Given the description of an element on the screen output the (x, y) to click on. 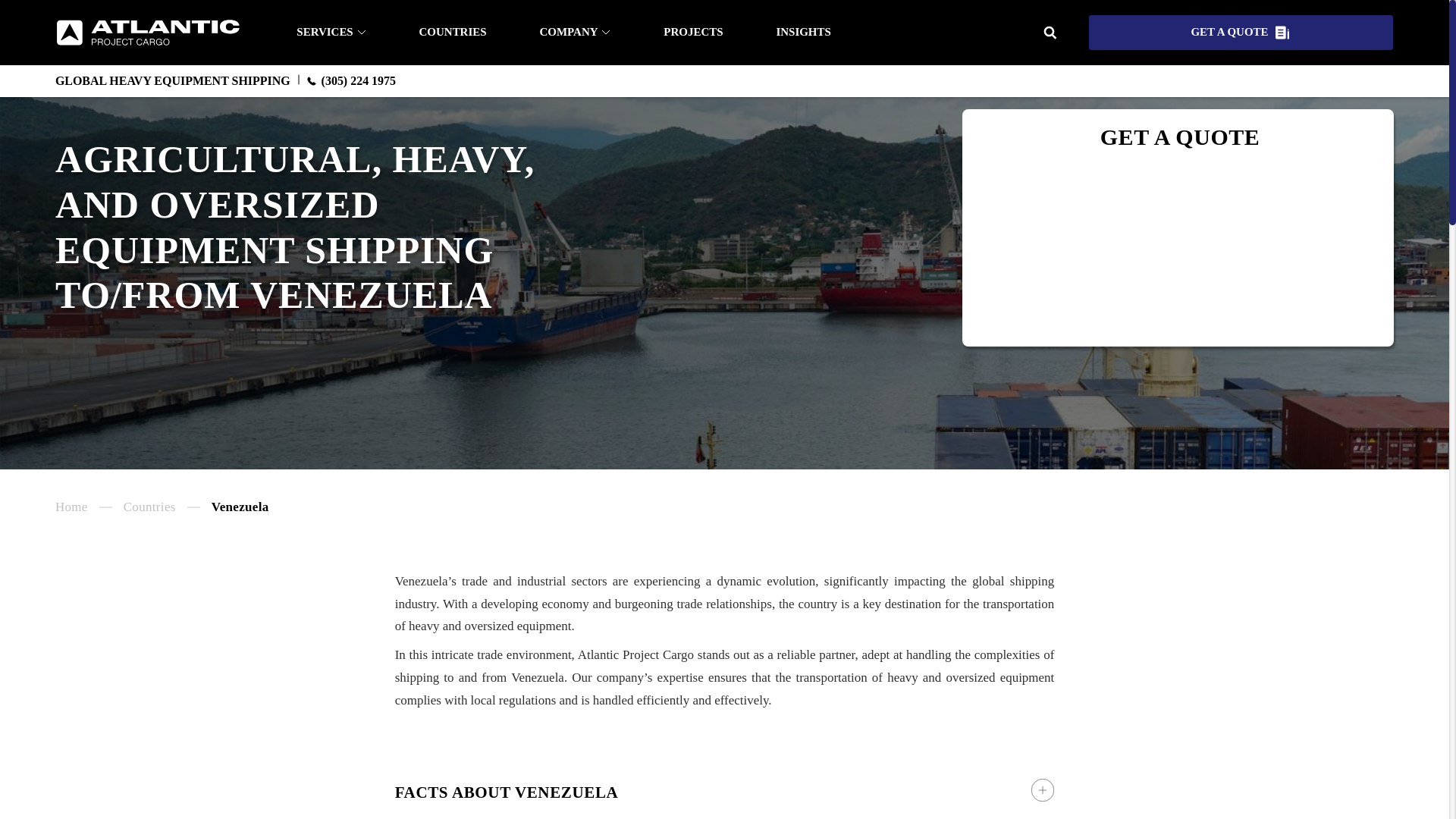
COMPANY (574, 31)
COUNTRIES (452, 31)
SERVICES (331, 31)
